Given the description of an element on the screen output the (x, y) to click on. 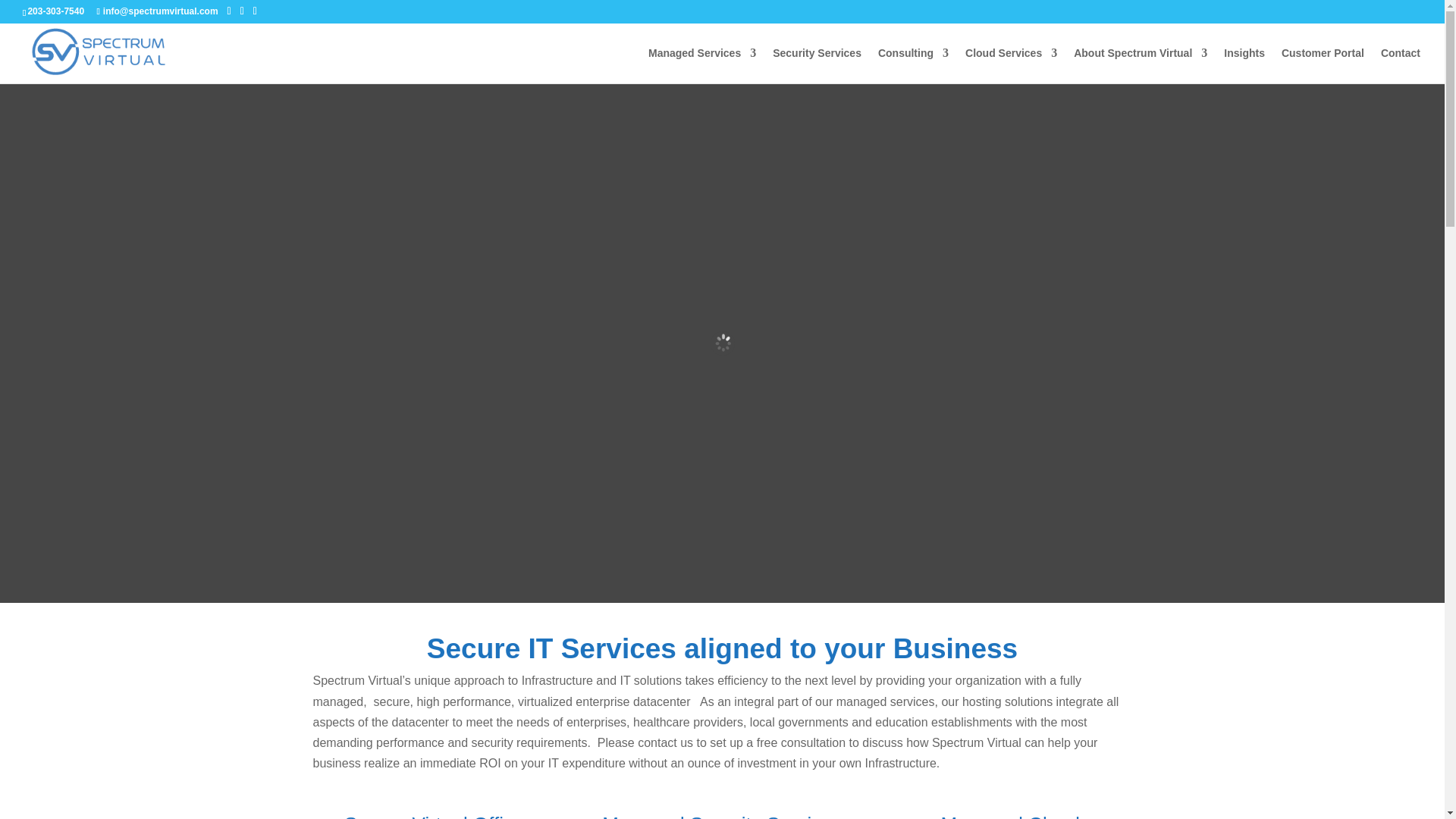
Customer Portal (1322, 65)
Consulting (913, 65)
Contact (1400, 65)
Security Services (817, 65)
Managed Services (701, 65)
Cloud Services (1011, 65)
Insights (1244, 65)
About Spectrum Virtual (1140, 65)
